Given the description of an element on the screen output the (x, y) to click on. 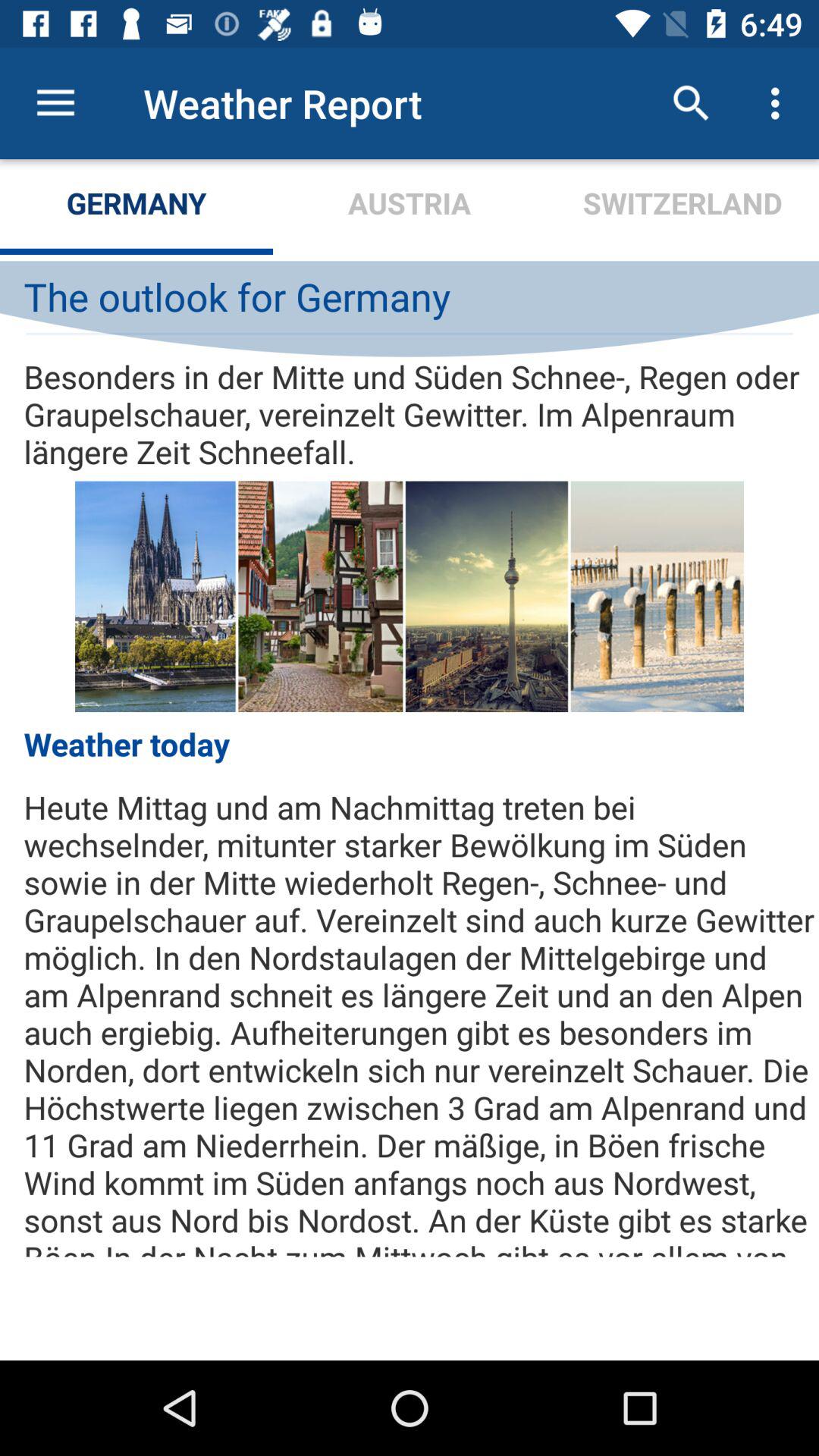
launch the icon below the weather report (409, 206)
